Given the description of an element on the screen output the (x, y) to click on. 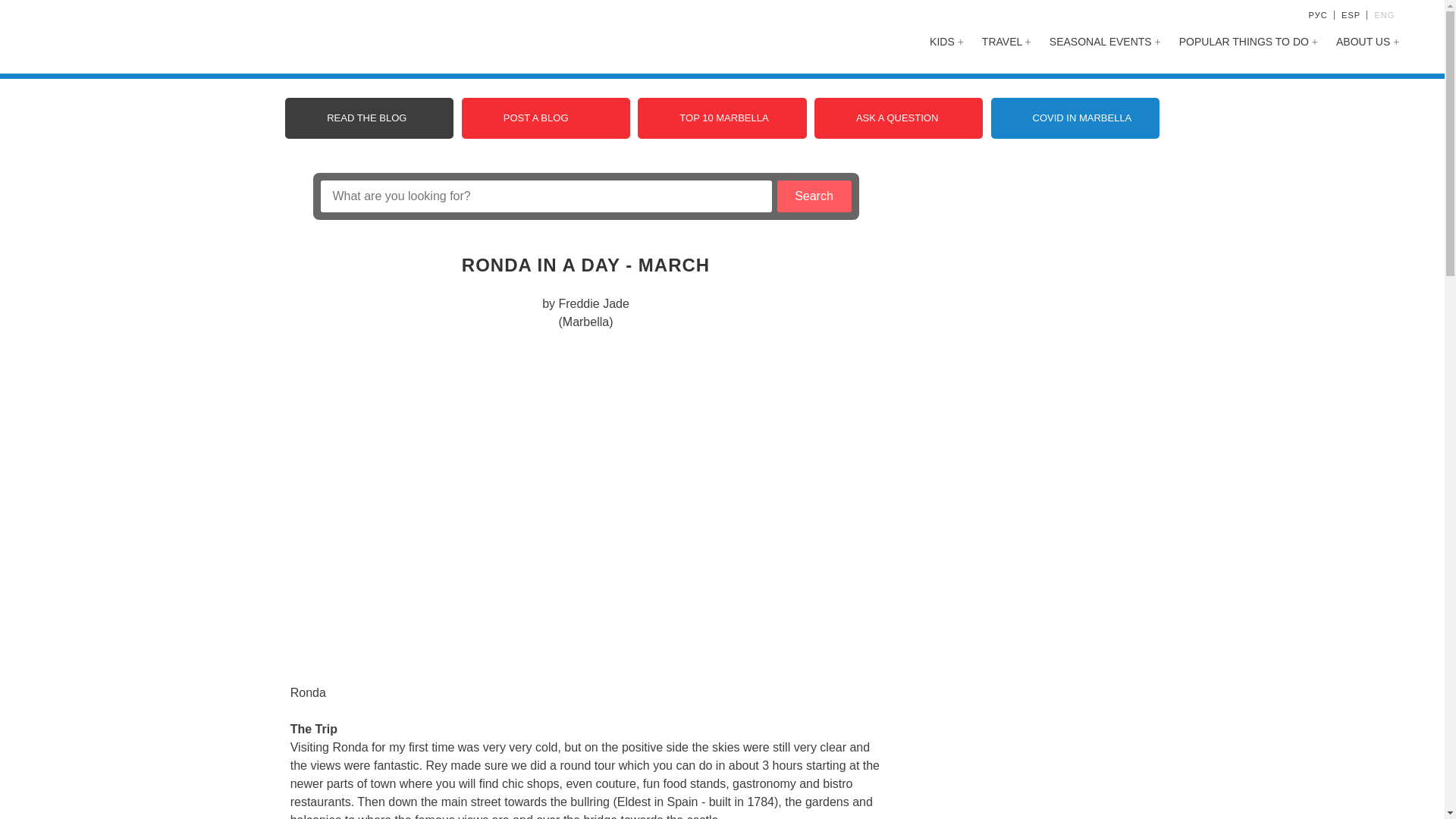
READ THE BLOG (368, 117)
POST A BLOG (545, 117)
ENG (1384, 14)
TOP 10 MARBELLA (721, 117)
ESP (1349, 14)
MARBELLAFAMILYFUN.COM (160, 38)
COVID IN MARBELLA (1074, 117)
Search (813, 196)
ASK A QUESTION (897, 117)
